Given the description of an element on the screen output the (x, y) to click on. 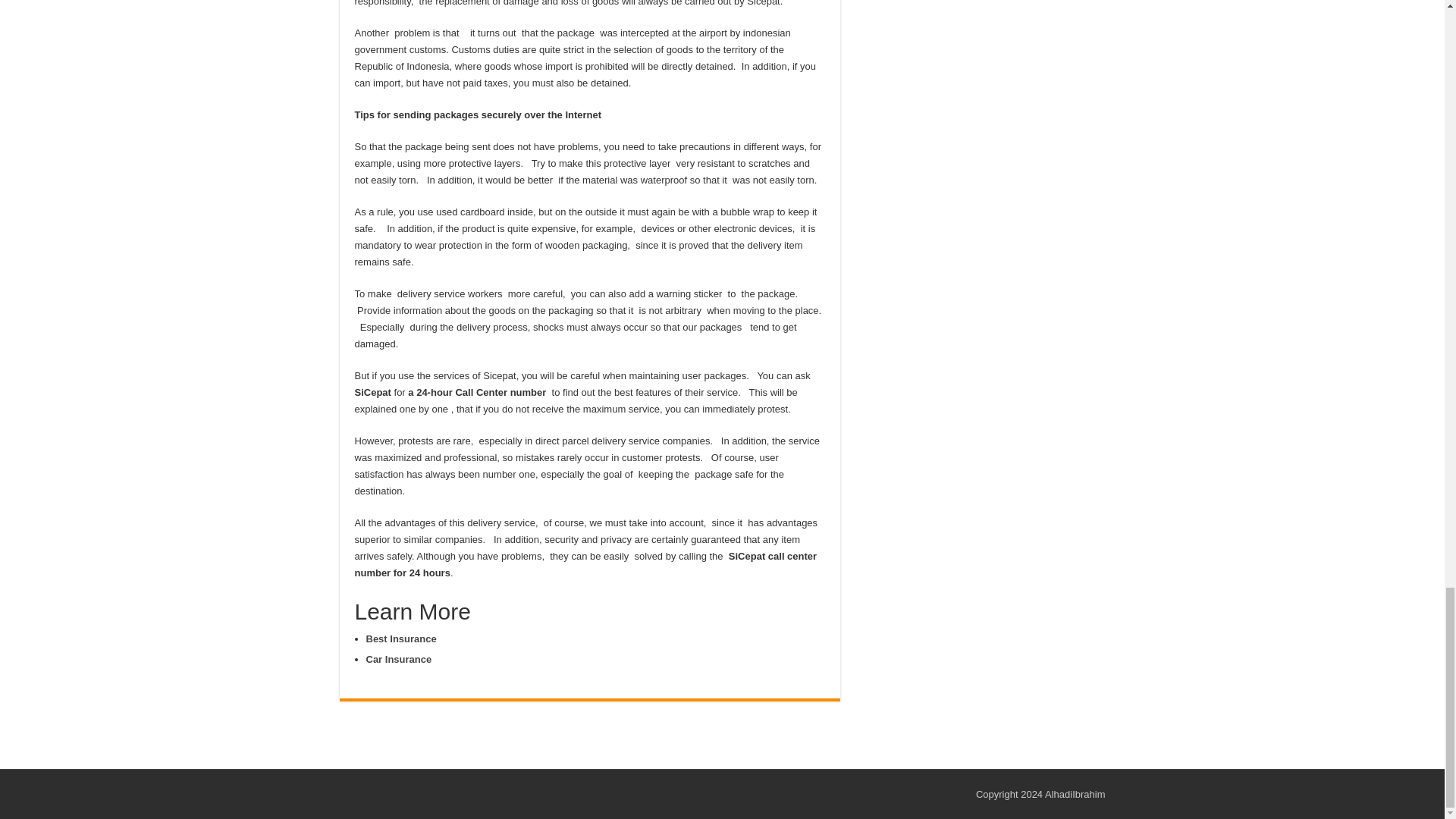
Car Insurance (397, 659)
AlhadiIbrahim (1075, 794)
Best Insurance (400, 638)
